Given the description of an element on the screen output the (x, y) to click on. 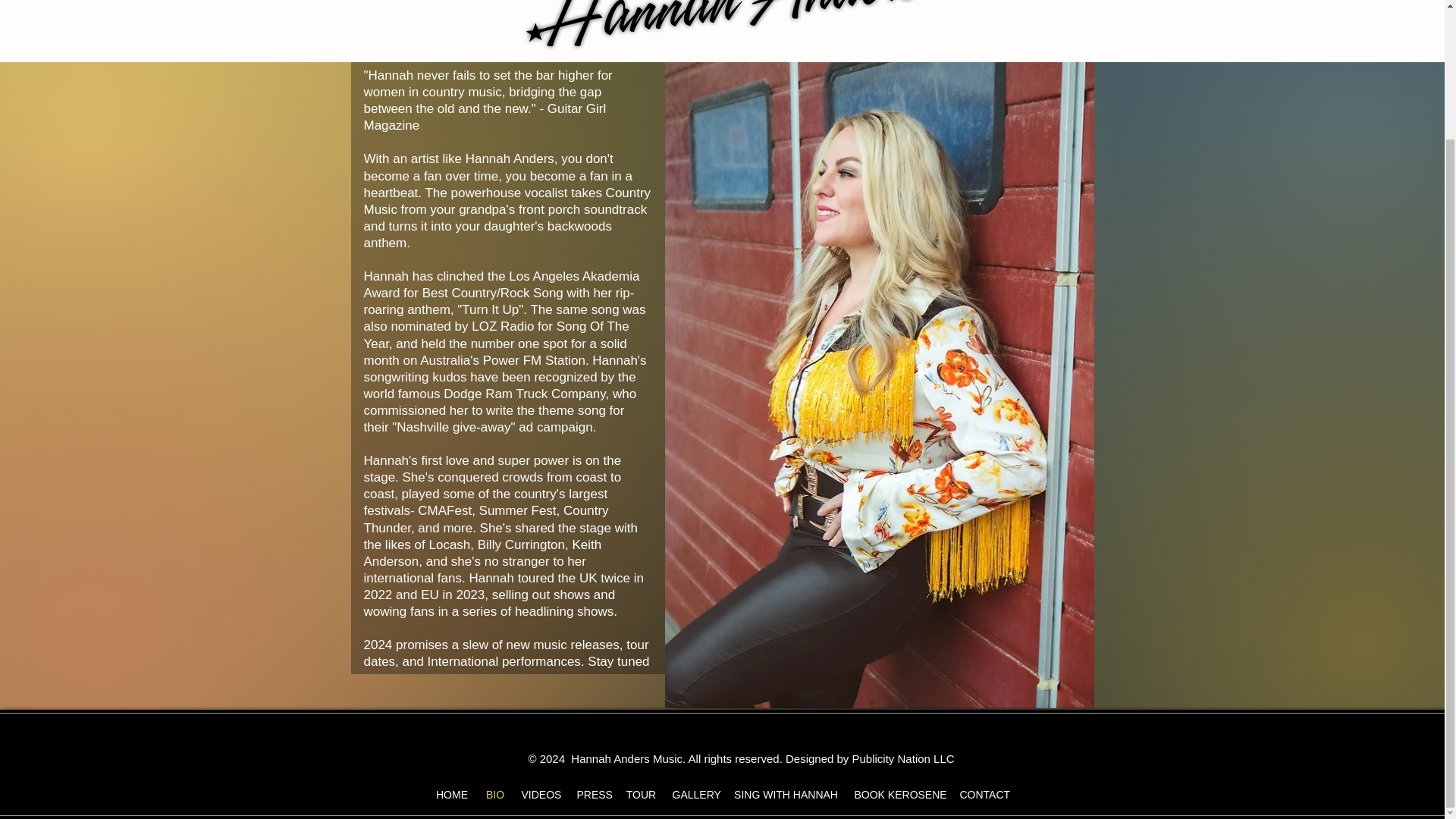
PRESS (593, 794)
TOUR (640, 794)
VIDEOS (541, 794)
CONTACT (984, 794)
SING WITH HANNAH (785, 794)
HA Stars logo Black on TRANS shadow.png (733, 31)
GALLERY (694, 794)
BIO (495, 794)
BOOK KEROSENE (897, 794)
HOME (452, 794)
